Given the description of an element on the screen output the (x, y) to click on. 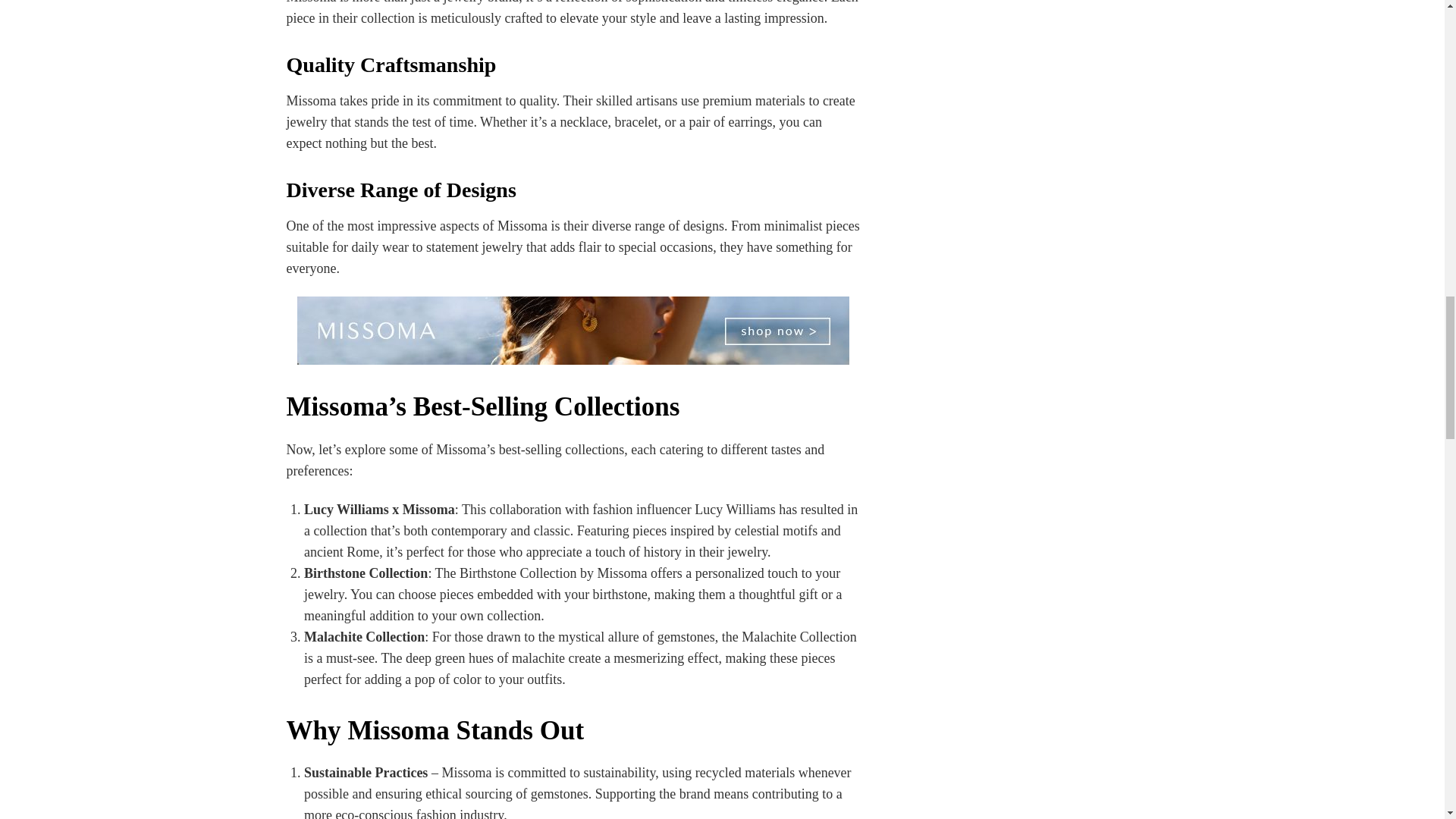
Missoma Review: Discover Luxury Jewelry for Every Occasion (572, 330)
